Given the description of an element on the screen output the (x, y) to click on. 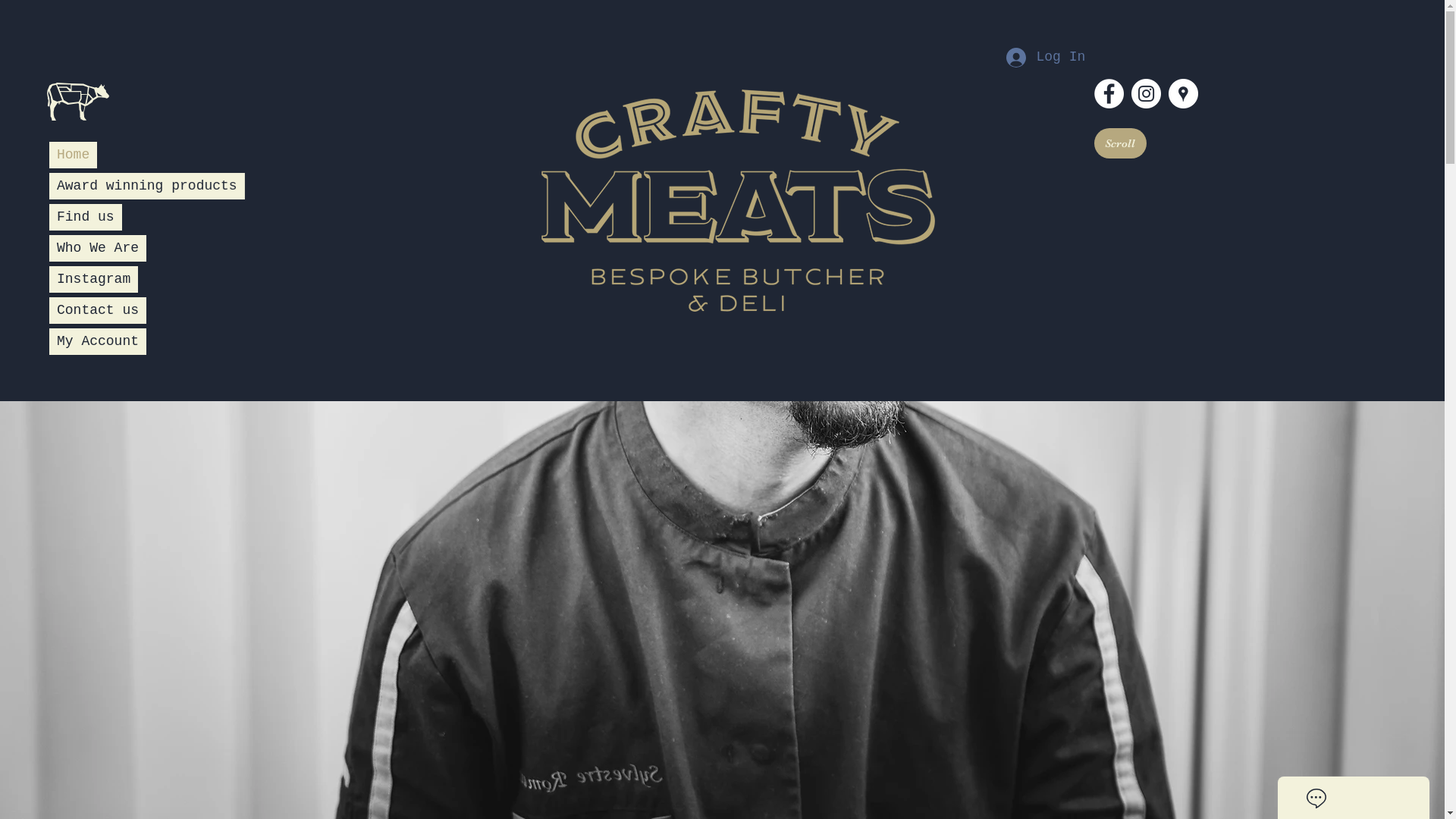
Who We Are Element type: text (97, 248)
Home Element type: text (73, 154)
Instagram Element type: text (93, 277)
My Account Element type: text (97, 332)
Find us Element type: text (85, 216)
Contact us Element type: text (97, 304)
Log In Element type: text (1039, 57)
Award winning products Element type: text (146, 185)
Scroll Element type: text (1119, 143)
